Given the description of an element on the screen output the (x, y) to click on. 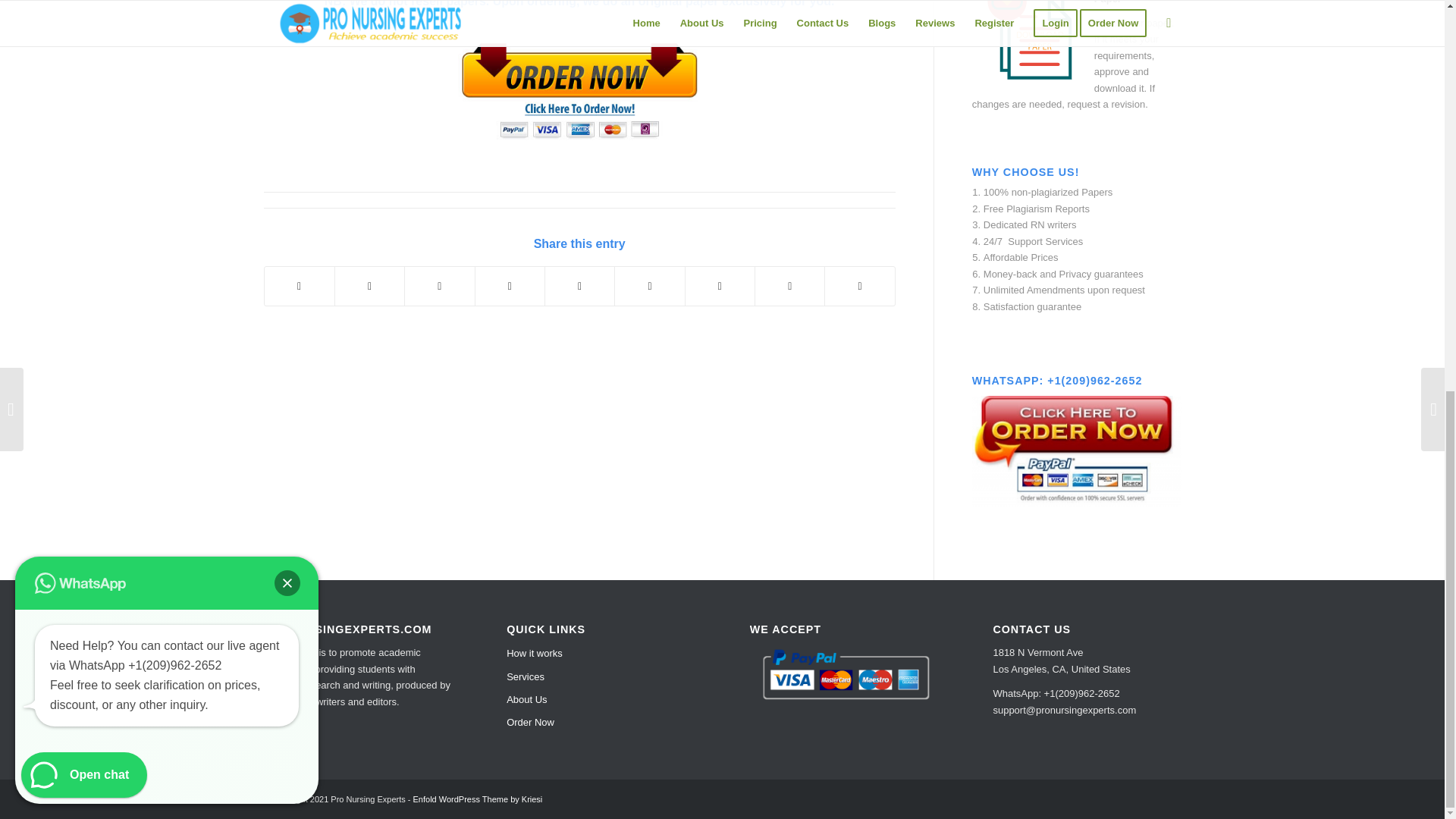
Order Now (600, 722)
About Us (600, 699)
Services (600, 676)
How it works (600, 653)
Enfold WordPress Theme by Kriesi (478, 798)
